Given the description of an element on the screen output the (x, y) to click on. 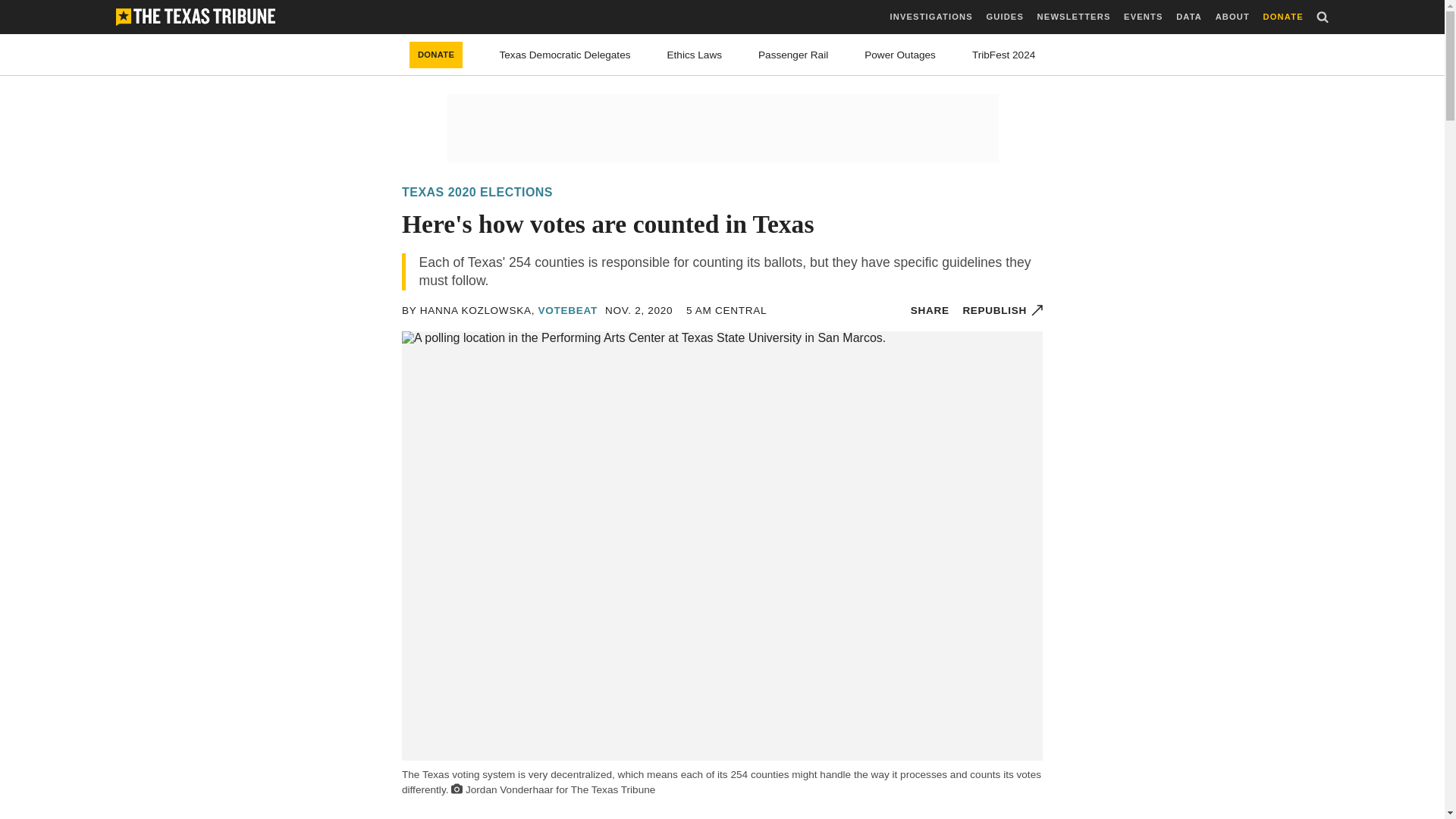
TEXAS 2020 ELECTIONS (477, 192)
NEWSLETTERS (1073, 17)
2020-11-02 05:00 CST (638, 310)
DONATE (436, 54)
REPUBLISH (1002, 310)
EVENTS (1142, 17)
ABOUT (1232, 17)
Passenger Rail (793, 54)
VOTEBEAT (567, 310)
Power Outages (900, 54)
DONATE (1283, 17)
Texas Democratic Delegates (564, 54)
GUIDES (1004, 17)
2020-11-02 05:00 CST (726, 310)
TribFest 2024 (1003, 54)
